Given the description of an element on the screen output the (x, y) to click on. 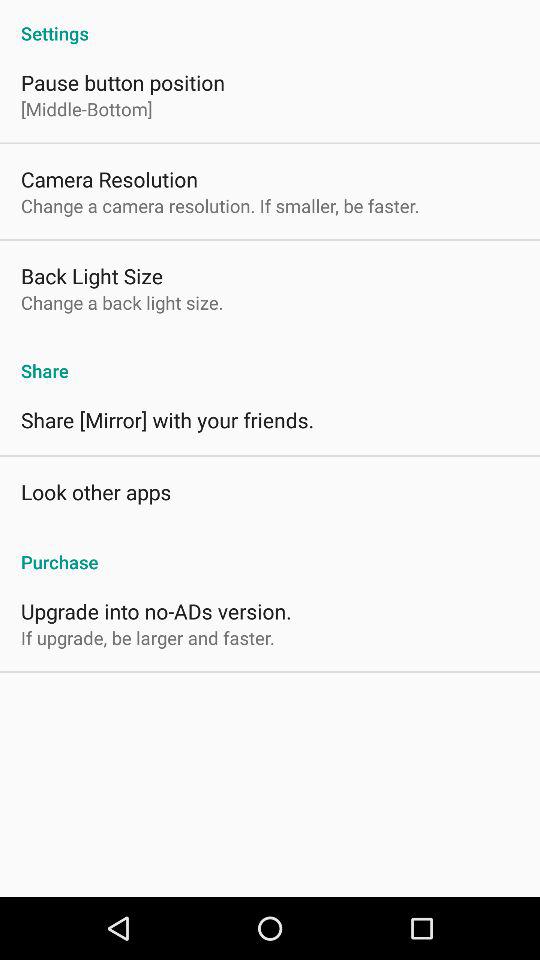
turn off the item below share mirror with item (96, 491)
